Given the description of an element on the screen output the (x, y) to click on. 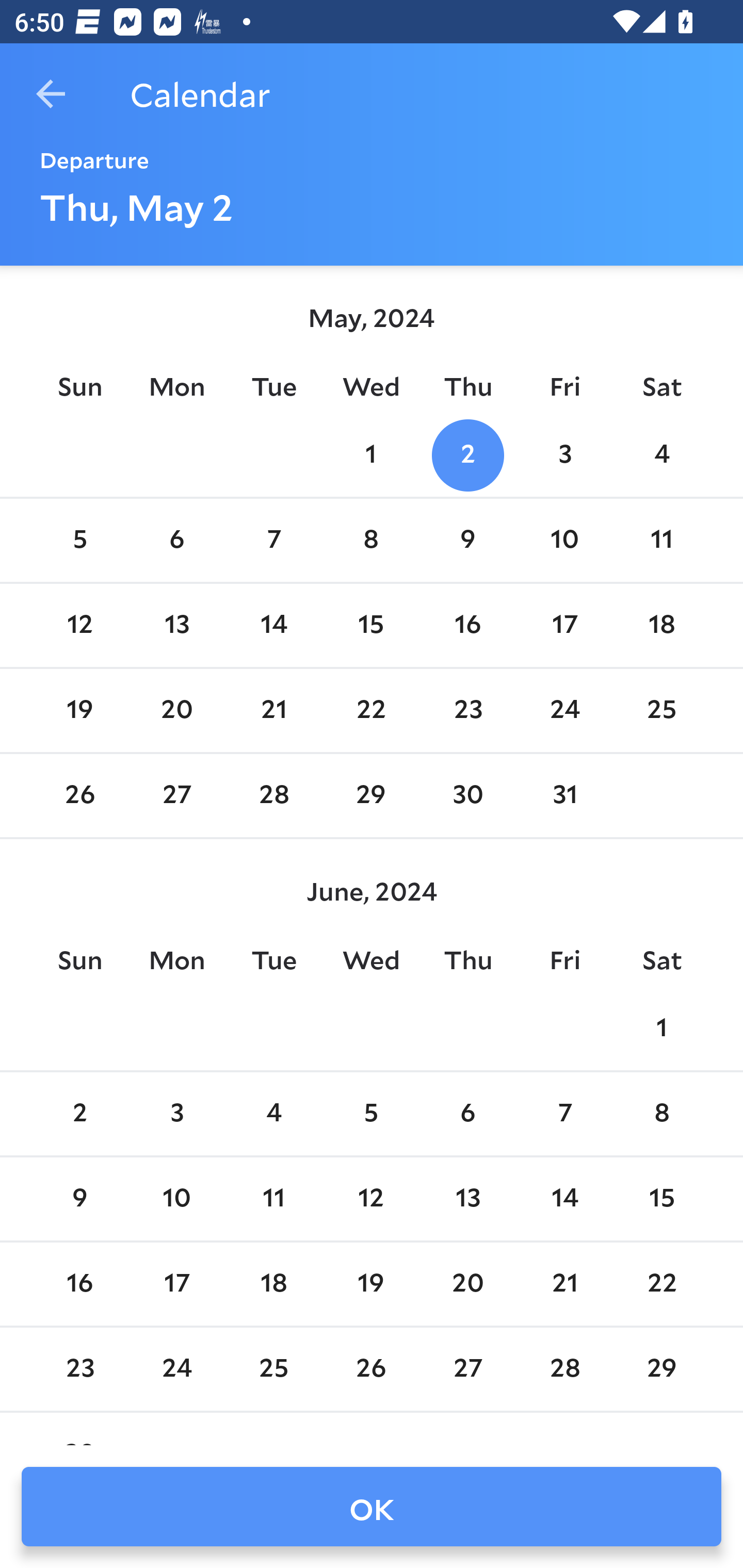
Navigate up (50, 93)
1 (371, 454)
2 (467, 454)
3 (565, 454)
4 (661, 454)
5 (79, 540)
6 (177, 540)
7 (273, 540)
8 (371, 540)
9 (467, 540)
10 (565, 540)
11 (661, 540)
12 (79, 625)
13 (177, 625)
14 (273, 625)
15 (371, 625)
16 (467, 625)
17 (565, 625)
18 (661, 625)
19 (79, 710)
20 (177, 710)
21 (273, 710)
22 (371, 710)
23 (467, 710)
24 (565, 710)
25 (661, 710)
26 (79, 796)
27 (177, 796)
28 (273, 796)
29 (371, 796)
30 (467, 796)
31 (565, 796)
1 (661, 1028)
2 (79, 1114)
3 (177, 1114)
4 (273, 1114)
5 (371, 1114)
6 (467, 1114)
7 (565, 1114)
8 (661, 1114)
9 (79, 1199)
10 (177, 1199)
11 (273, 1199)
12 (371, 1199)
13 (467, 1199)
14 (565, 1199)
15 (661, 1199)
16 (79, 1284)
17 (177, 1284)
18 (273, 1284)
